Given the description of an element on the screen output the (x, y) to click on. 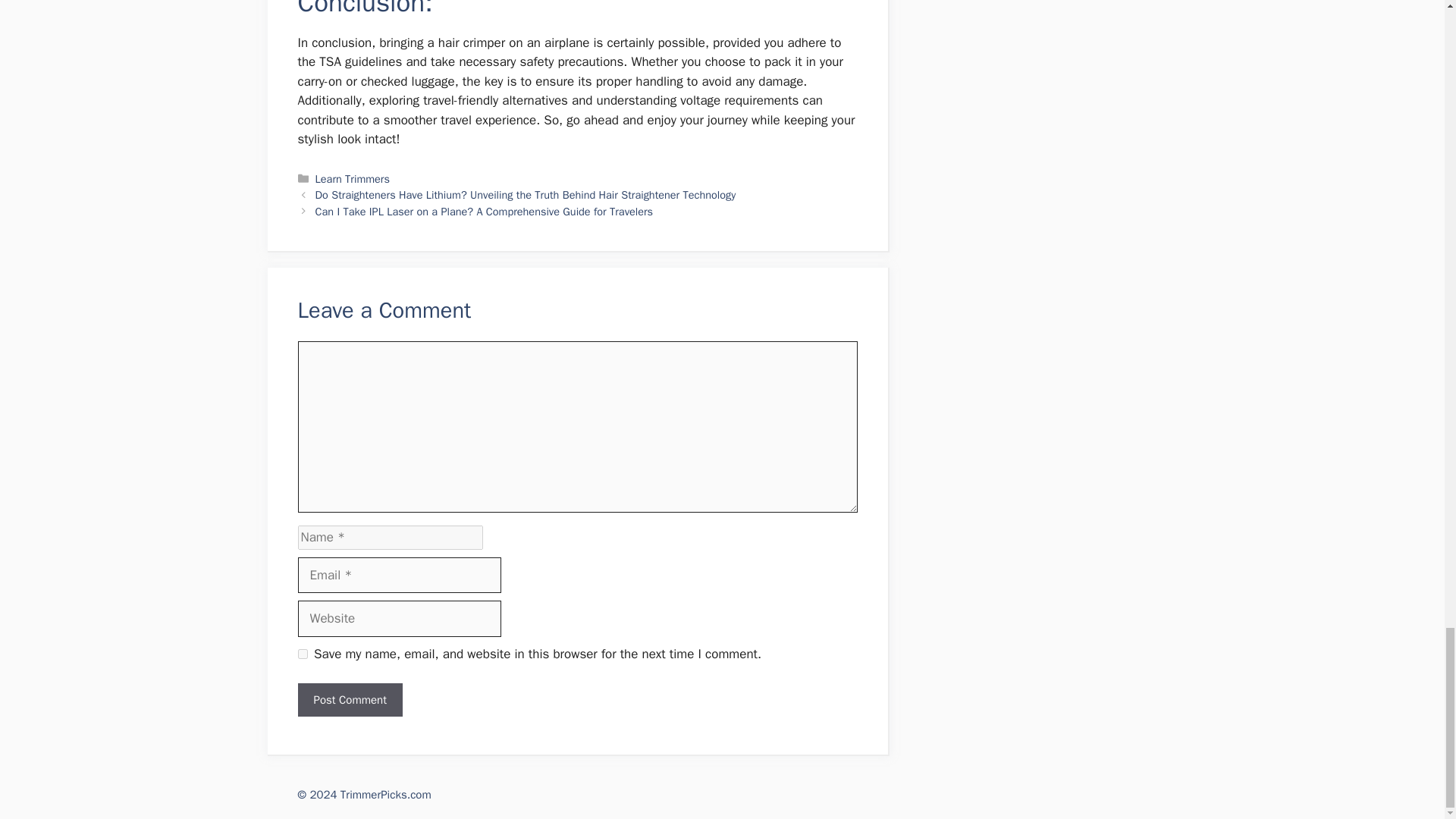
Post Comment (349, 700)
Learn Trimmers (352, 178)
Post Comment (349, 700)
yes (302, 654)
